Given the description of an element on the screen output the (x, y) to click on. 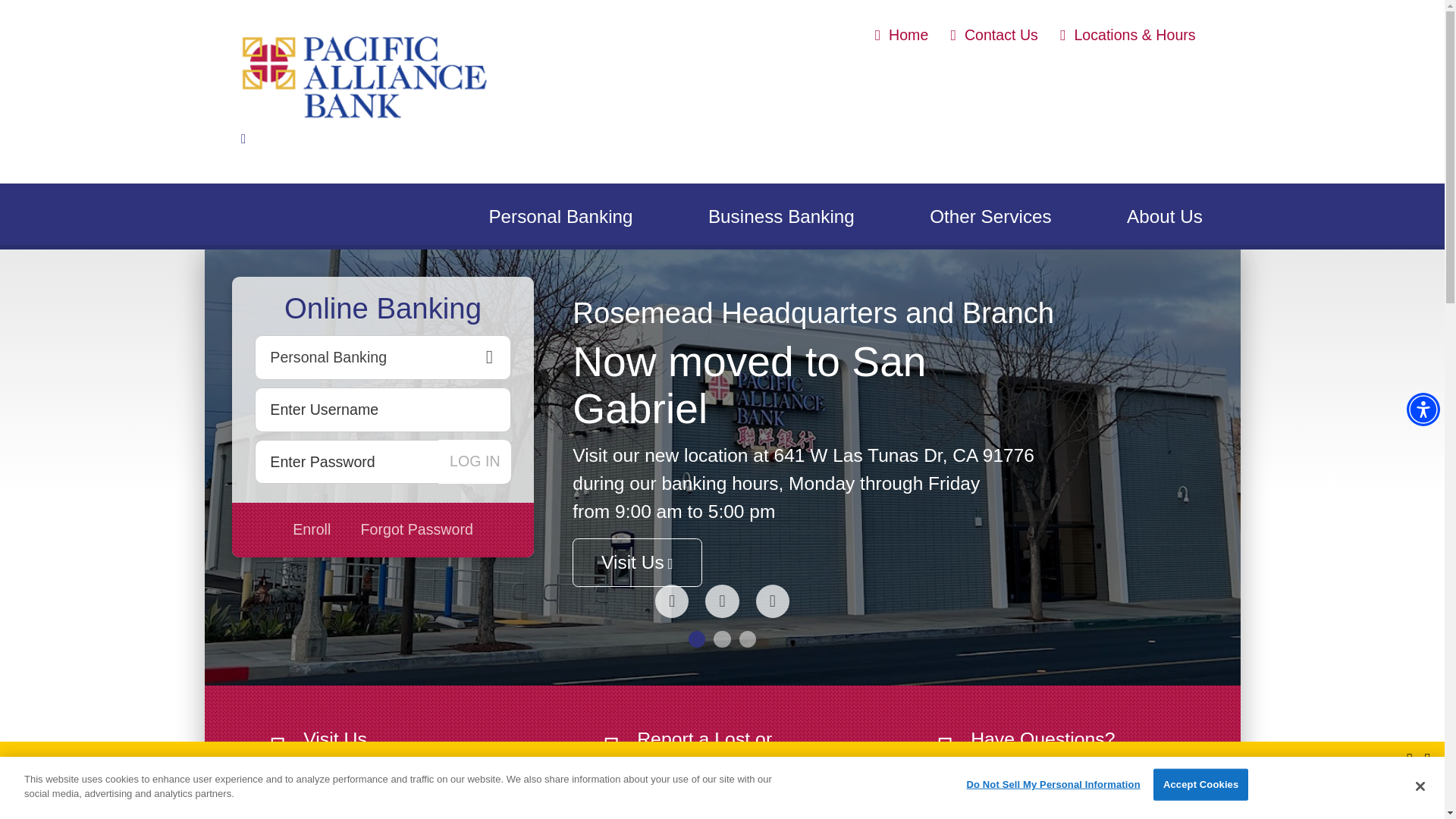
Contact Us (994, 35)
Home (901, 35)
Accessibility Menu (1422, 409)
